Given the description of an element on the screen output the (x, y) to click on. 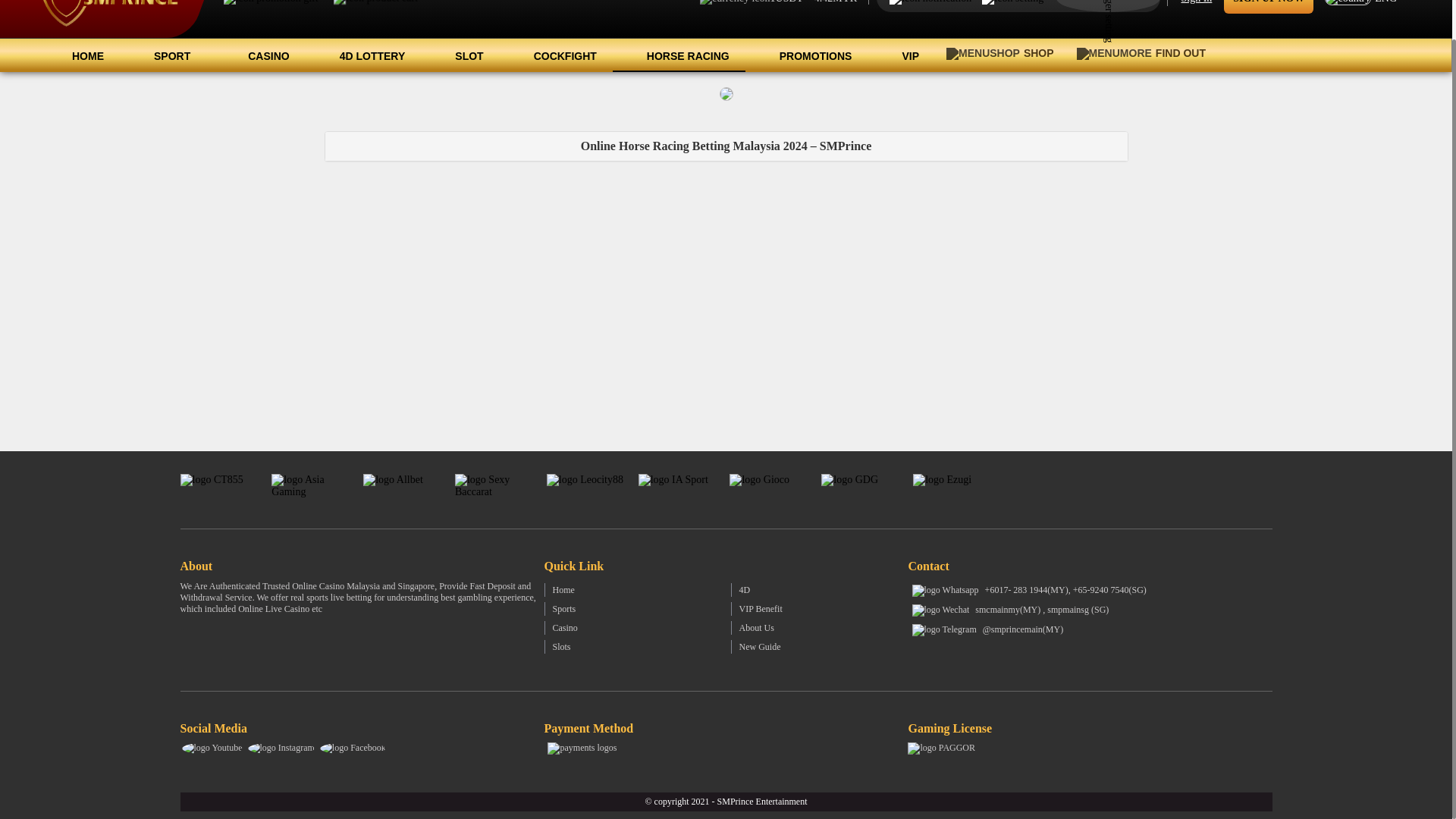
FIND OUT (1144, 53)
SLOT (459, 55)
SPORT (166, 55)
COCKFIGHT (555, 55)
SIGN UP NOW (1268, 6)
HORSE RACING (678, 55)
ENG (1365, 7)
PROMOTIONS (806, 55)
HOME (78, 55)
VIP (900, 55)
CASINO (259, 55)
4D LOTTERY (363, 55)
Sign In (1196, 6)
SHOP (999, 53)
